Given the description of an element on the screen output the (x, y) to click on. 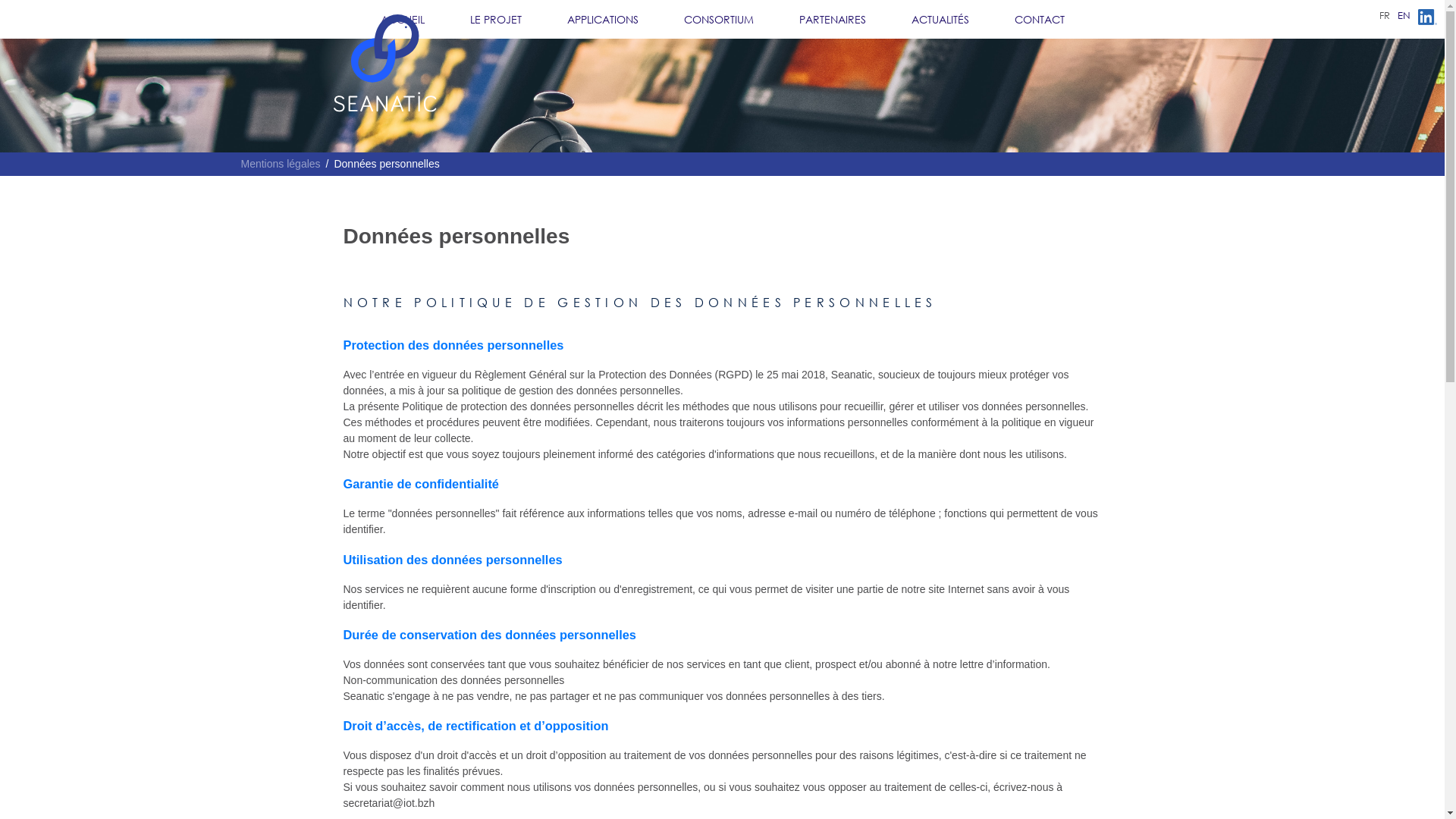
ACCUEIL Element type: text (402, 19)
PARTENAIRES Element type: text (832, 19)
CONTACT Element type: text (1039, 19)
CONSORTIUM Element type: text (718, 19)
LE PROJET Element type: text (495, 19)
EN Element type: text (1403, 15)
APPLICATIONS Element type: text (602, 19)
